Given the description of an element on the screen output the (x, y) to click on. 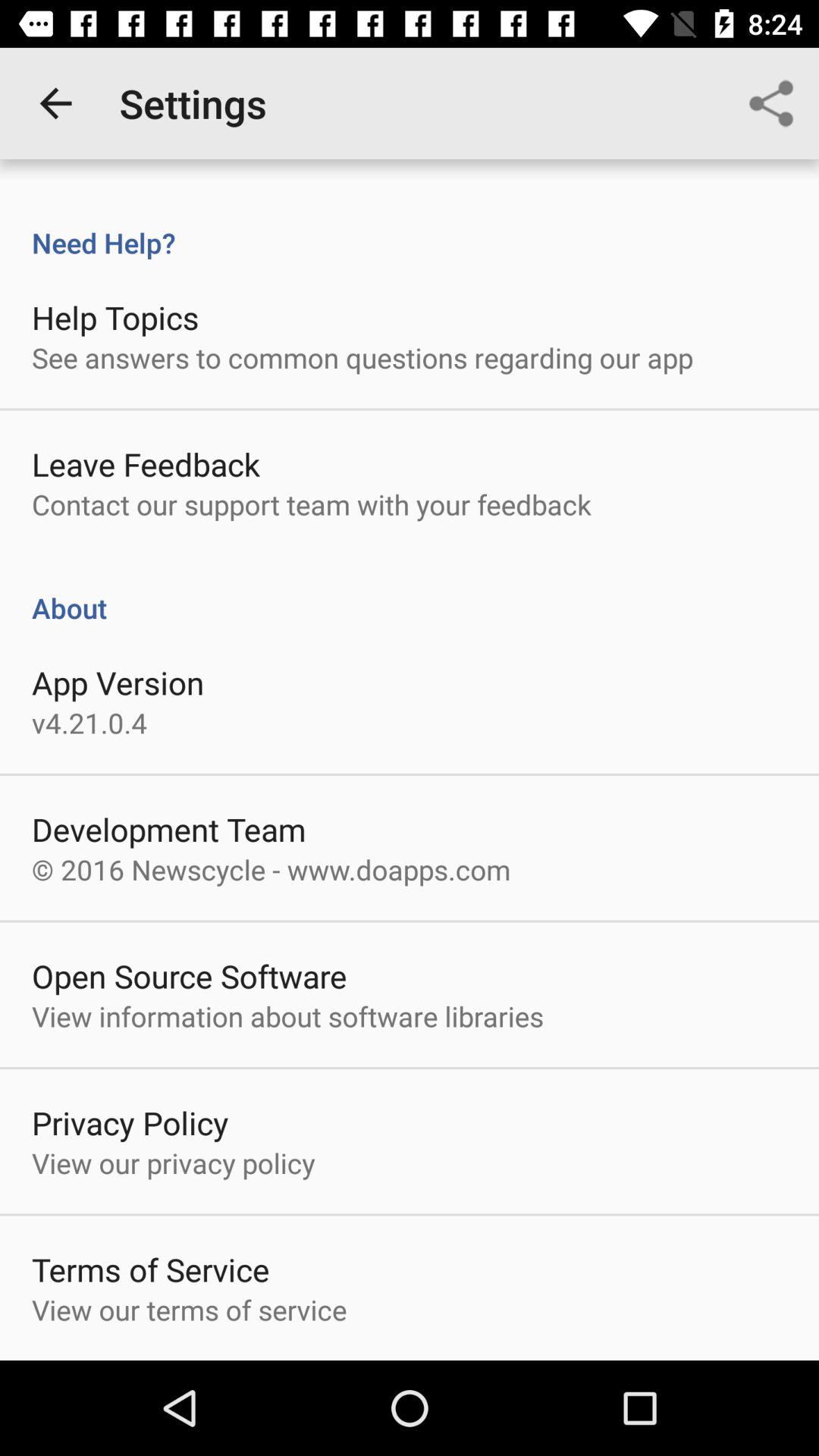
select the icon above help topics icon (409, 226)
